Given the description of an element on the screen output the (x, y) to click on. 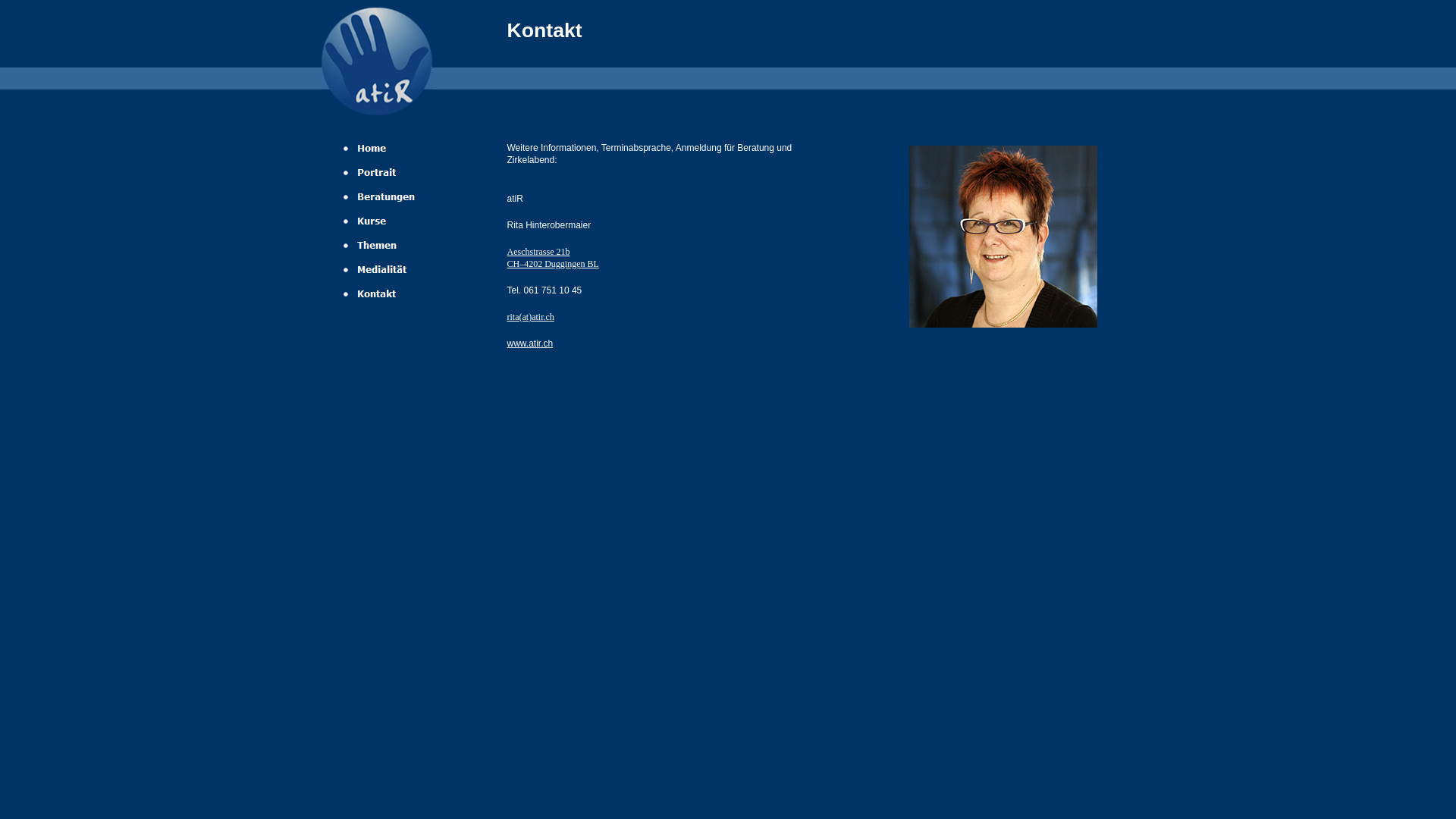
Kurse Element type: hover (400, 220)
Portrait Element type: hover (400, 172)
atiR Element type: hover (376, 61)
Kontakt Element type: hover (400, 293)
Home Element type: hover (400, 147)
Beratungen Element type: hover (400, 196)
www.atir.ch Element type: text (529, 343)
Themen Element type: hover (400, 244)
rita(at)atir.ch Element type: text (529, 316)
